Given the description of an element on the screen output the (x, y) to click on. 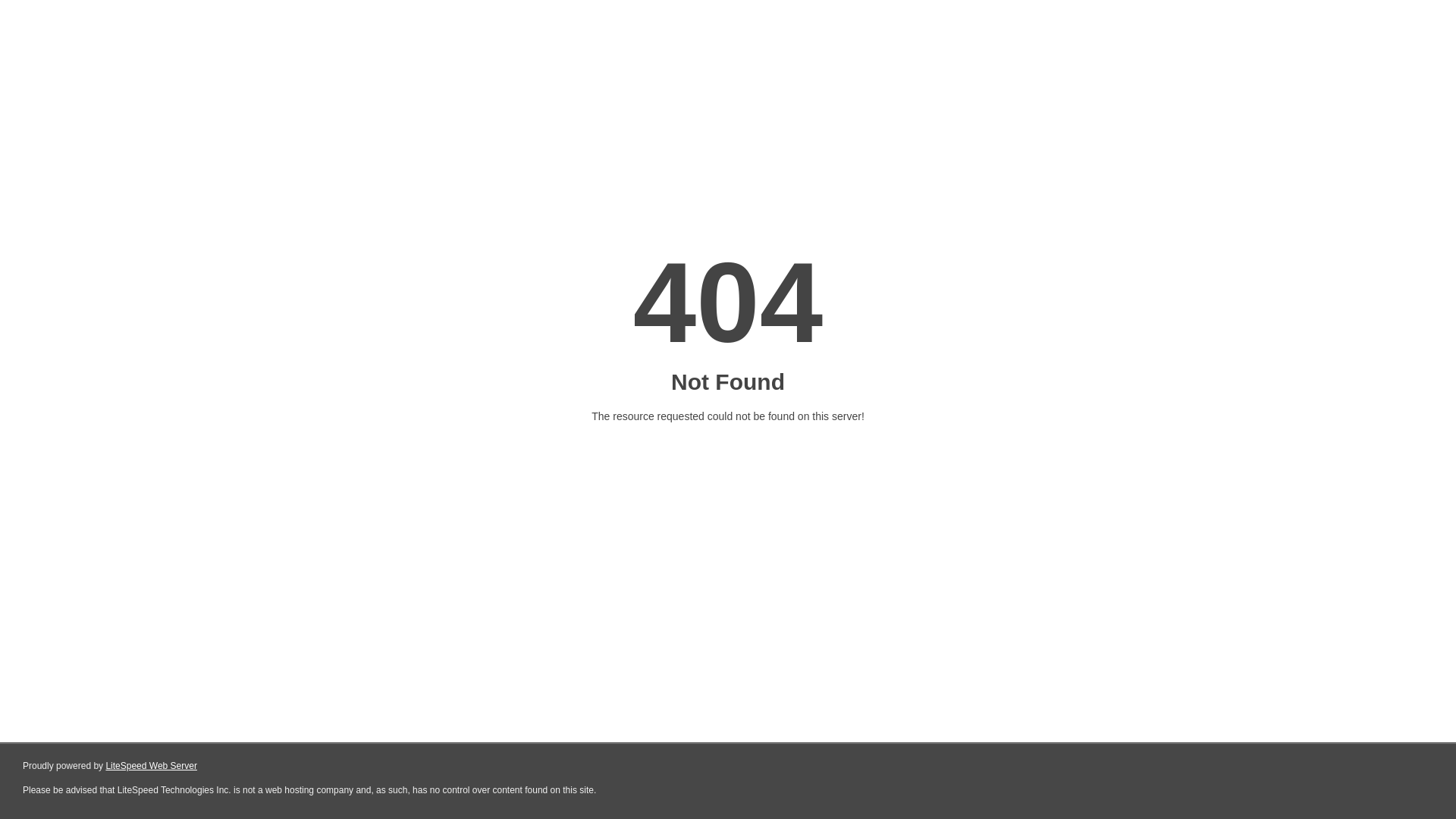
LiteSpeed Web Server Element type: text (151, 765)
